Given the description of an element on the screen output the (x, y) to click on. 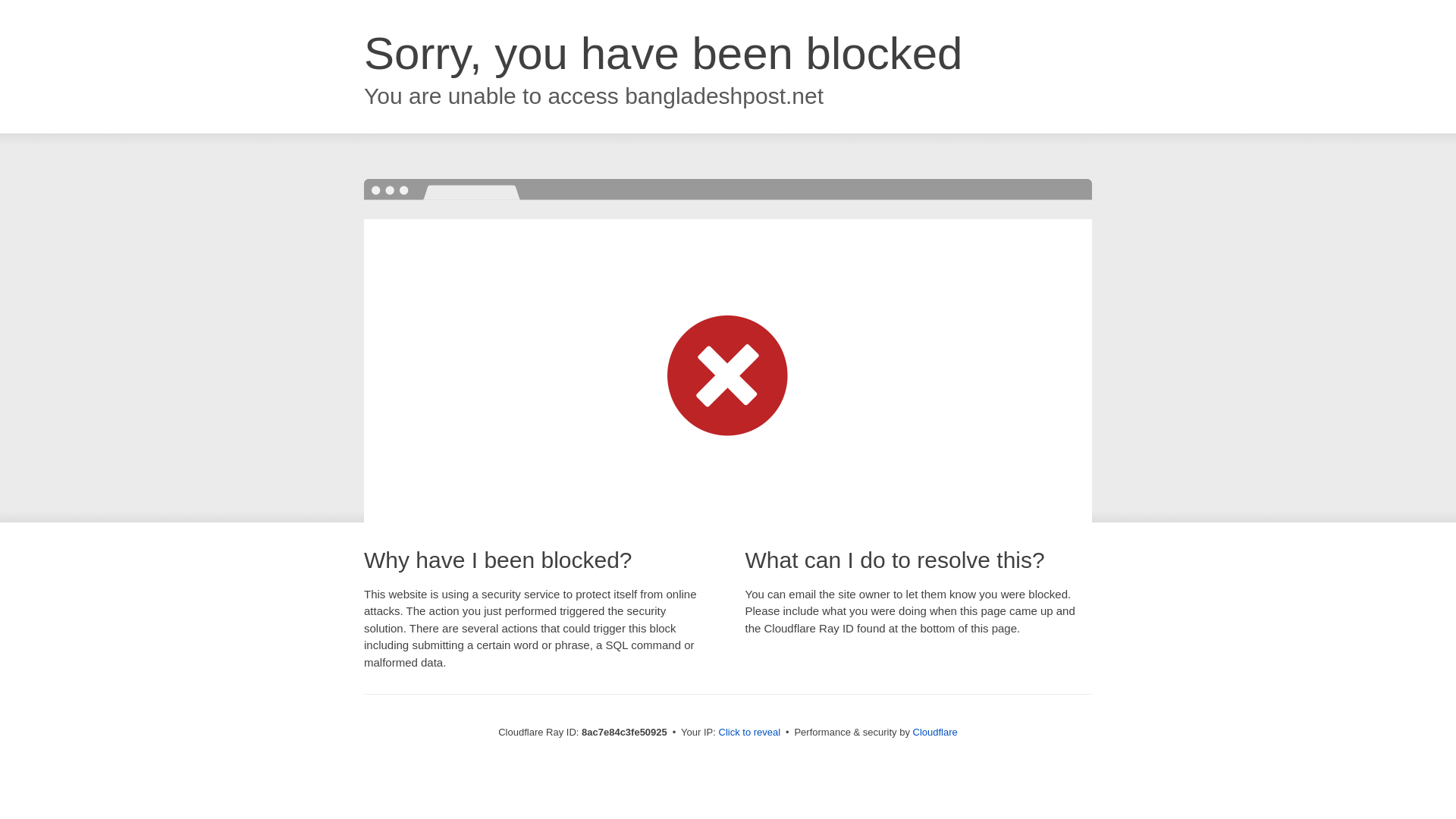
Click to reveal (749, 732)
Cloudflare (935, 731)
